Given the description of an element on the screen output the (x, y) to click on. 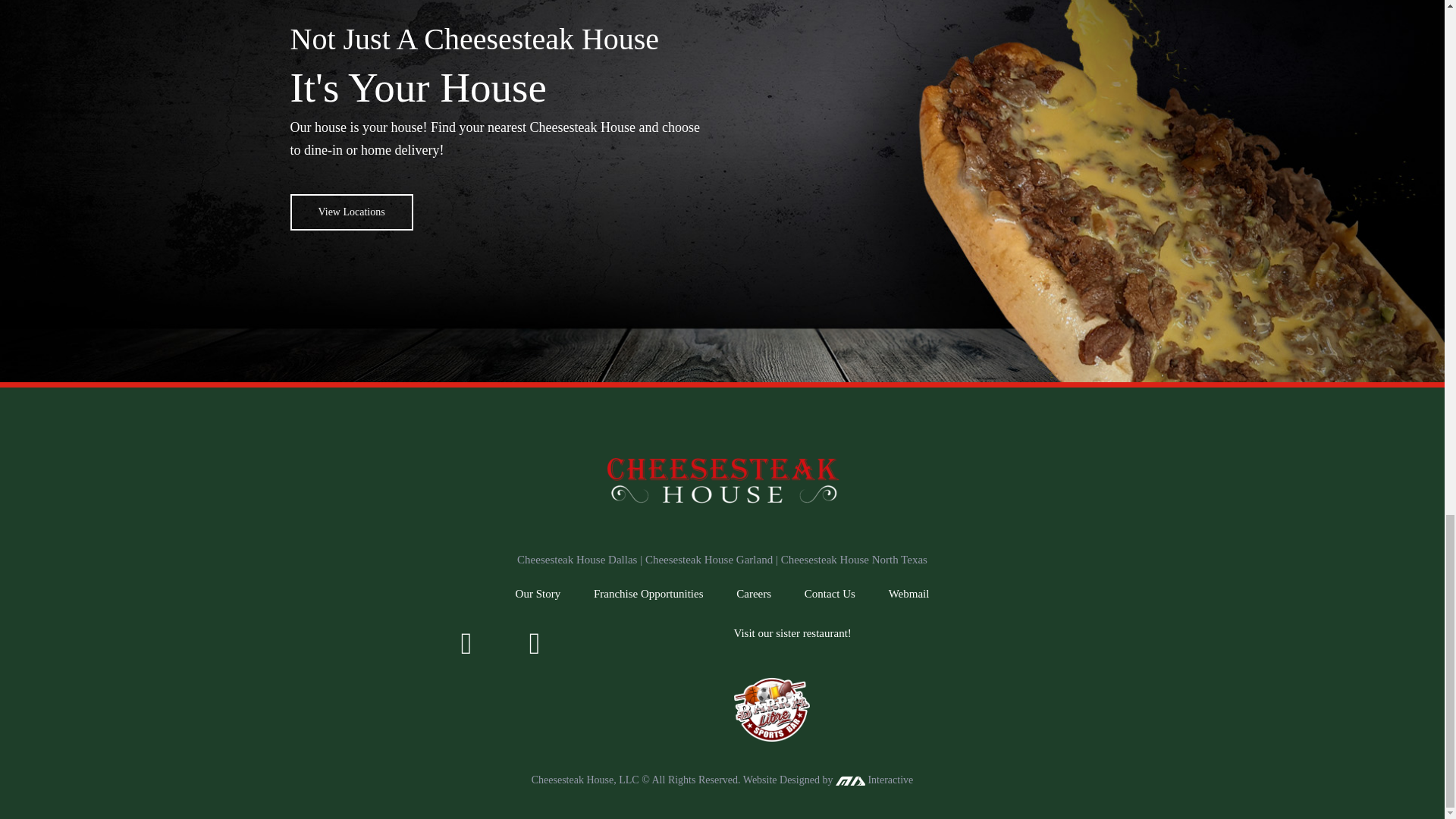
Cheesesteak House (721, 480)
Careers (753, 593)
Online Orders (350, 212)
Our Story (537, 593)
Interactive (873, 779)
Franchise Opportunities (648, 593)
Contact Us (830, 593)
Webmail (909, 593)
View Locations (350, 212)
